Given the description of an element on the screen output the (x, y) to click on. 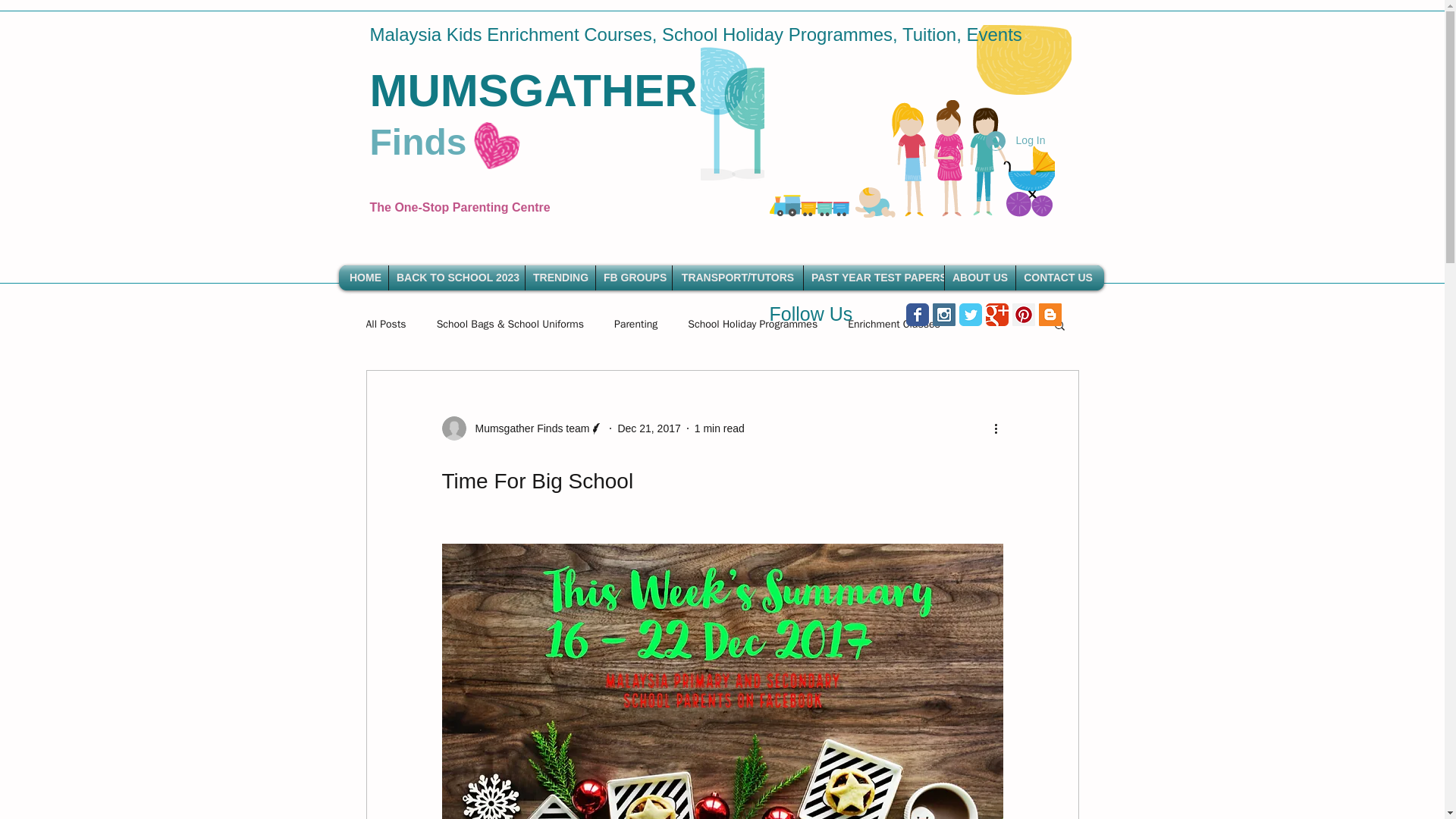
Mumsgather Finds team (527, 427)
Log In (1016, 140)
BACK TO SCHOOL 2023 (456, 277)
Dec 21, 2017 (648, 427)
ABOUT US (979, 277)
Enrichment Classes (893, 324)
All Posts (385, 324)
School Holiday Programmes (751, 324)
CONTACT US (1058, 277)
1 min read (719, 427)
PAST YEAR TEST PAPERS (873, 277)
Parenting (636, 324)
HOME (365, 277)
